Given the description of an element on the screen output the (x, y) to click on. 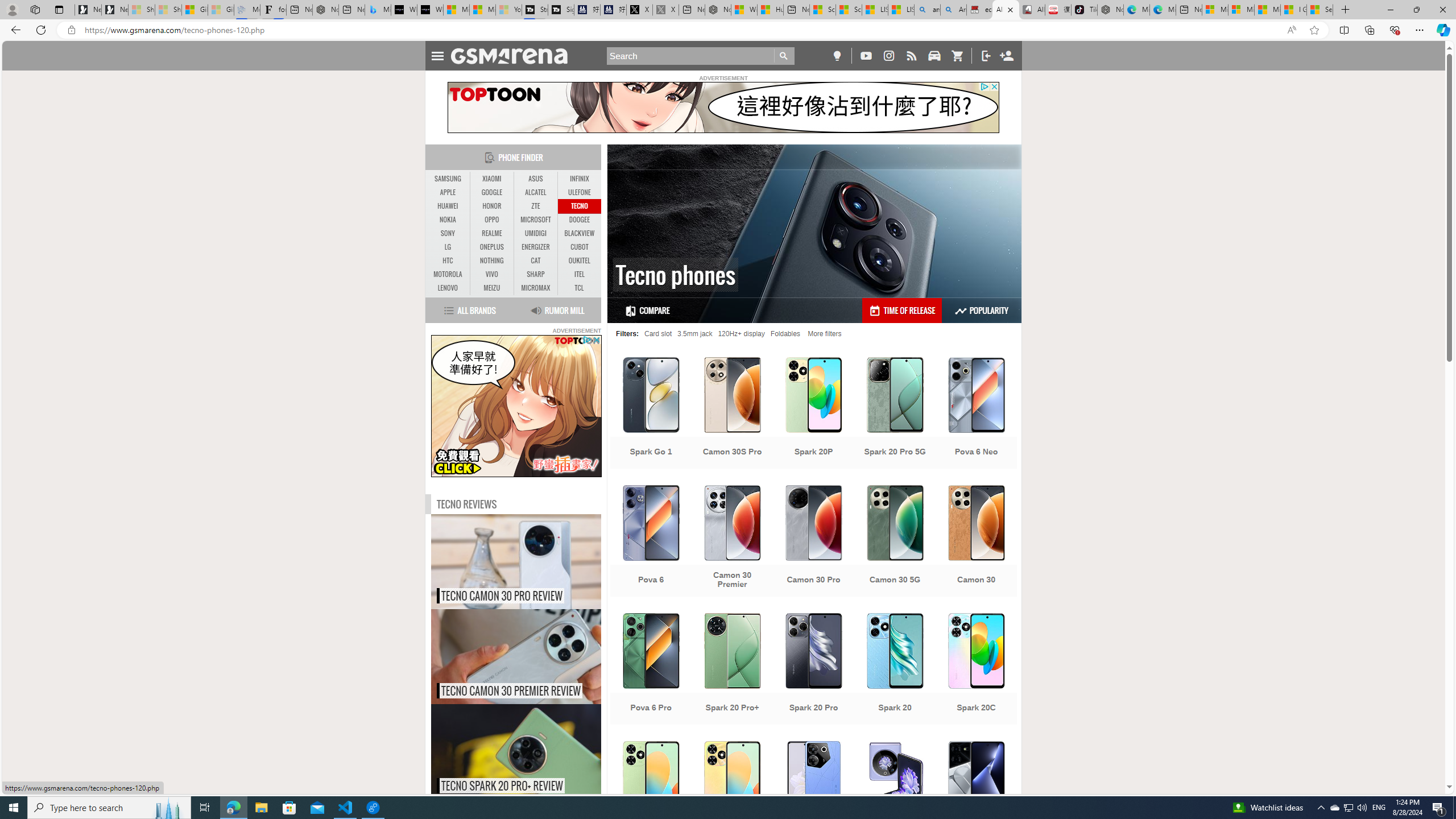
AutomationID: close_button_svg (596, 339)
MICROMAX (535, 287)
Spark Go 1 (650, 413)
MEIZU (491, 287)
Card slot (658, 333)
Microsoft Start (1267, 9)
HTC (448, 260)
Microsoft account | Privacy (1241, 9)
Back (13, 29)
More filters (824, 333)
Streaming Coverage | T3 (534, 9)
NOTHING (491, 260)
